Given the description of an element on the screen output the (x, y) to click on. 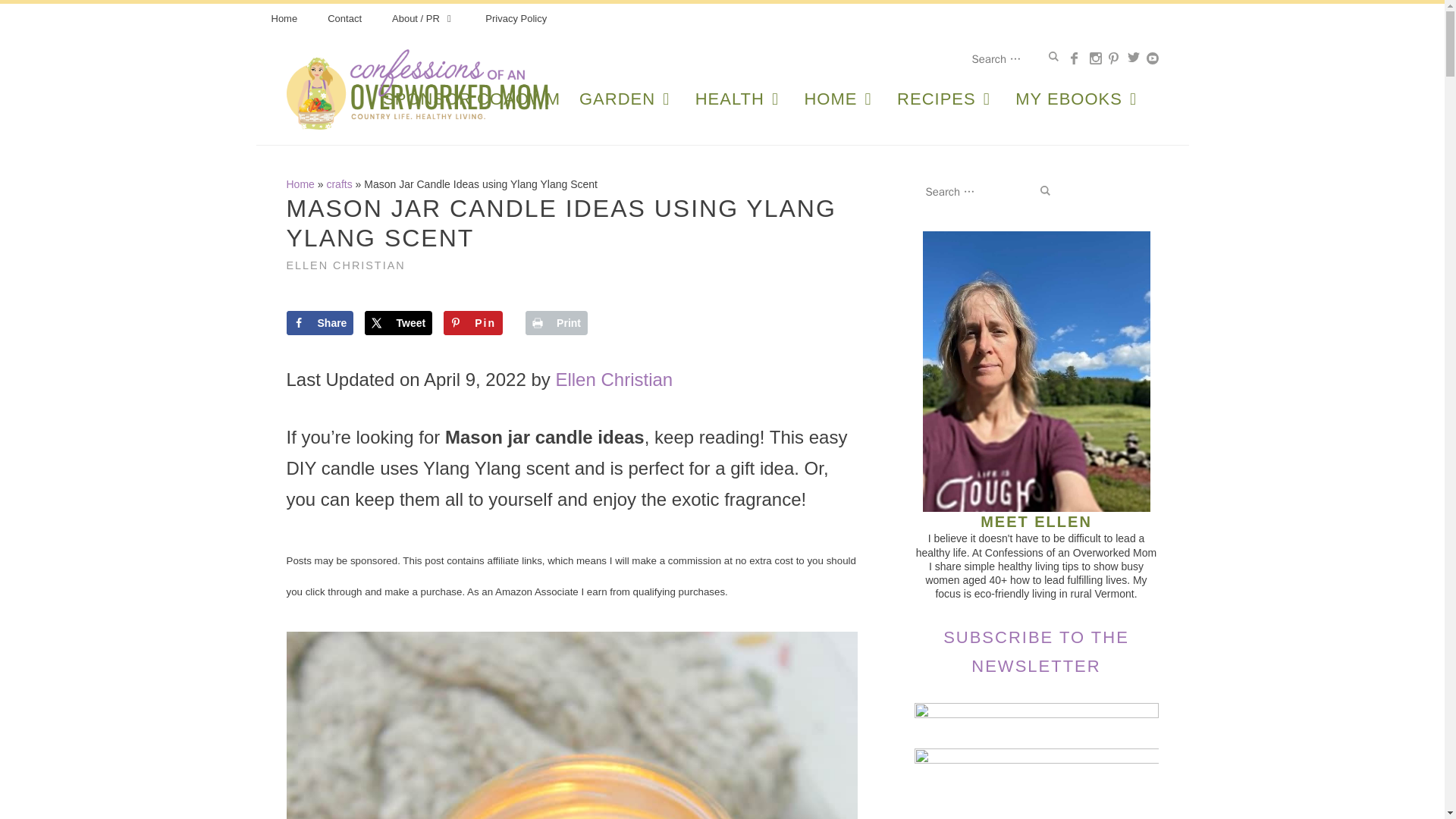
RECIPES (952, 99)
Search (1053, 56)
Share on Facebook (319, 322)
Save to Pinterest (473, 322)
Contact (345, 19)
Search (1053, 56)
Print this webpage (556, 322)
HOME (846, 99)
Search (1044, 190)
SPONSOR COAOWM (476, 99)
Search for: (1008, 59)
View all posts by Ellen Christian (346, 265)
Search (1053, 56)
Share on X (398, 322)
Privacy Policy (516, 19)
